Given the description of an element on the screen output the (x, y) to click on. 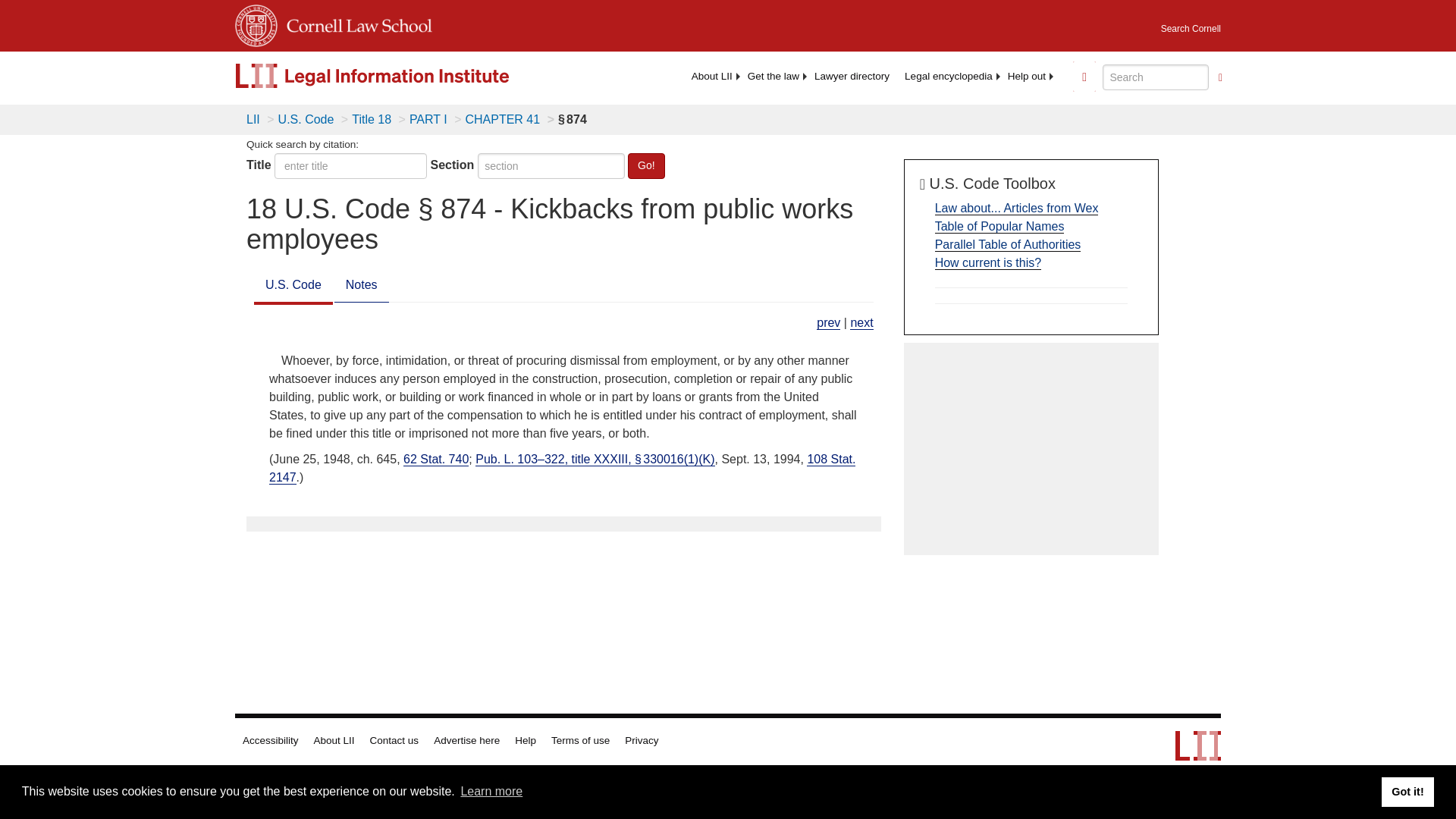
Search Cornell University (1190, 24)
Get the law (772, 76)
 Interstate communications (861, 323)
Search Cornell (1190, 24)
US Code Title number (350, 166)
US Code Section number (550, 166)
Legal encyclopedia (948, 76)
Cornell Law School (355, 23)
About LII (711, 76)
Cornell Law School (355, 23)
3rd party ad content (1031, 449)
Lawyer directory (851, 76)
 Blackmail (828, 323)
Cornell University (256, 23)
